Given the description of an element on the screen output the (x, y) to click on. 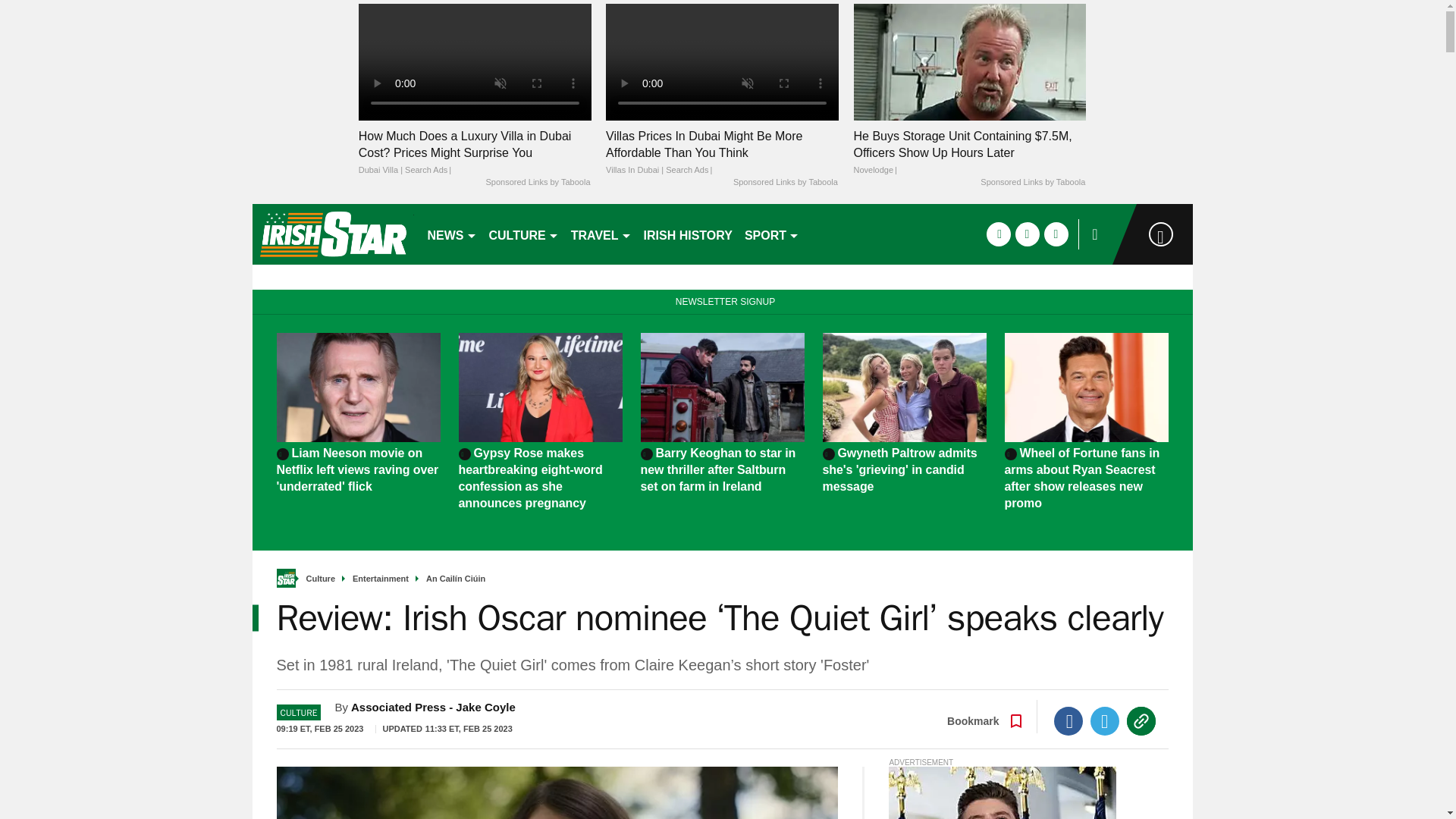
IRISH HISTORY (687, 233)
Sponsored Links by Taboola (536, 182)
Sponsored Links by Taboola (785, 182)
CULTURE (522, 233)
Sponsored Links by Taboola (1031, 182)
TRAVEL (600, 233)
SPORT (771, 233)
NEWS (452, 233)
facebook (997, 233)
Twitter (1104, 720)
twitter (1026, 233)
